Given the description of an element on the screen output the (x, y) to click on. 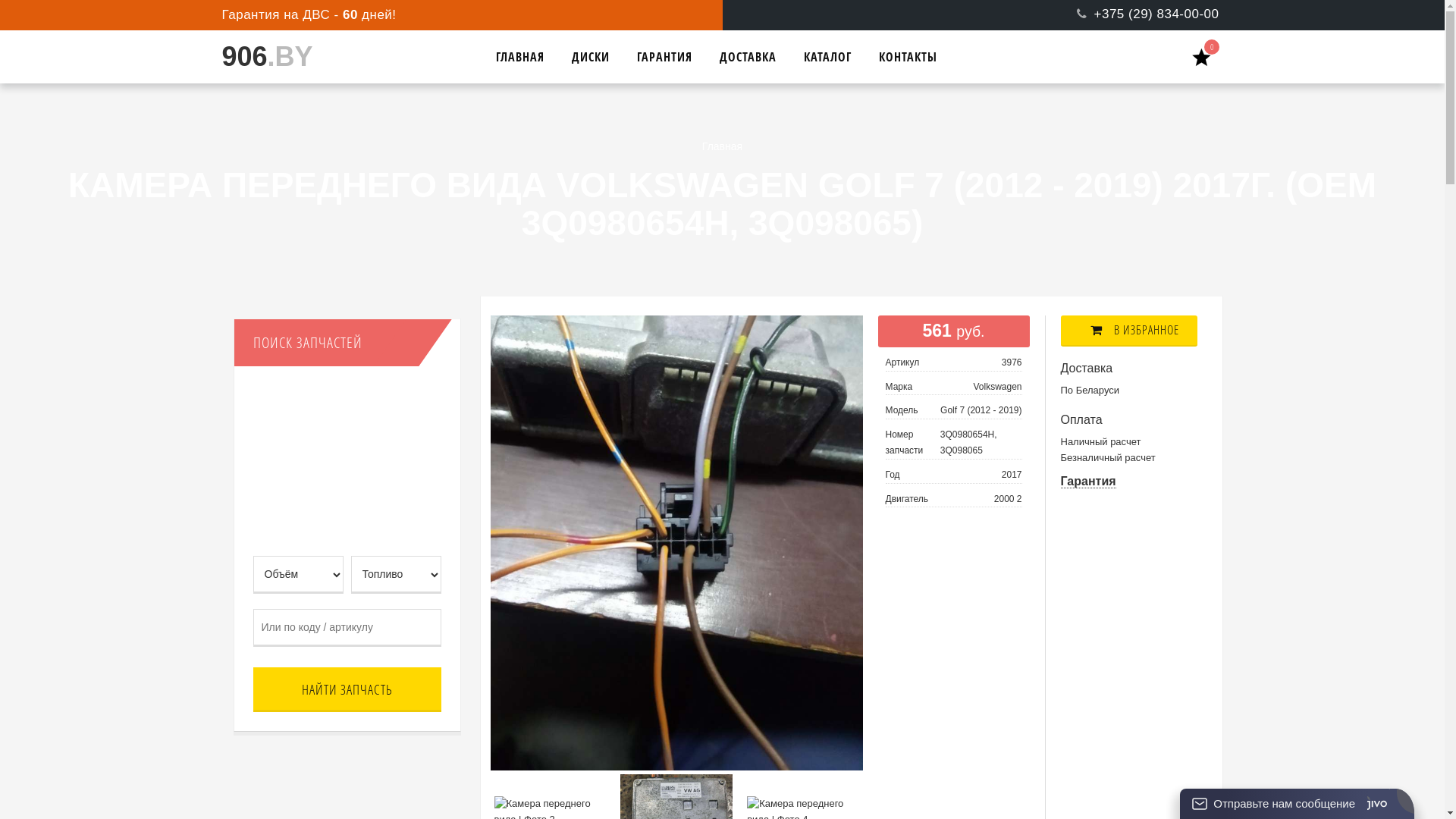
Volkswagen Element type: text (996, 386)
0 Element type: text (1207, 55)
Golf 7 (2012 - 2019) Element type: text (980, 409)
+375 (29) 834-00-00 Element type: text (1139, 13)
906.BY Element type: text (346, 56)
